Given the description of an element on the screen output the (x, y) to click on. 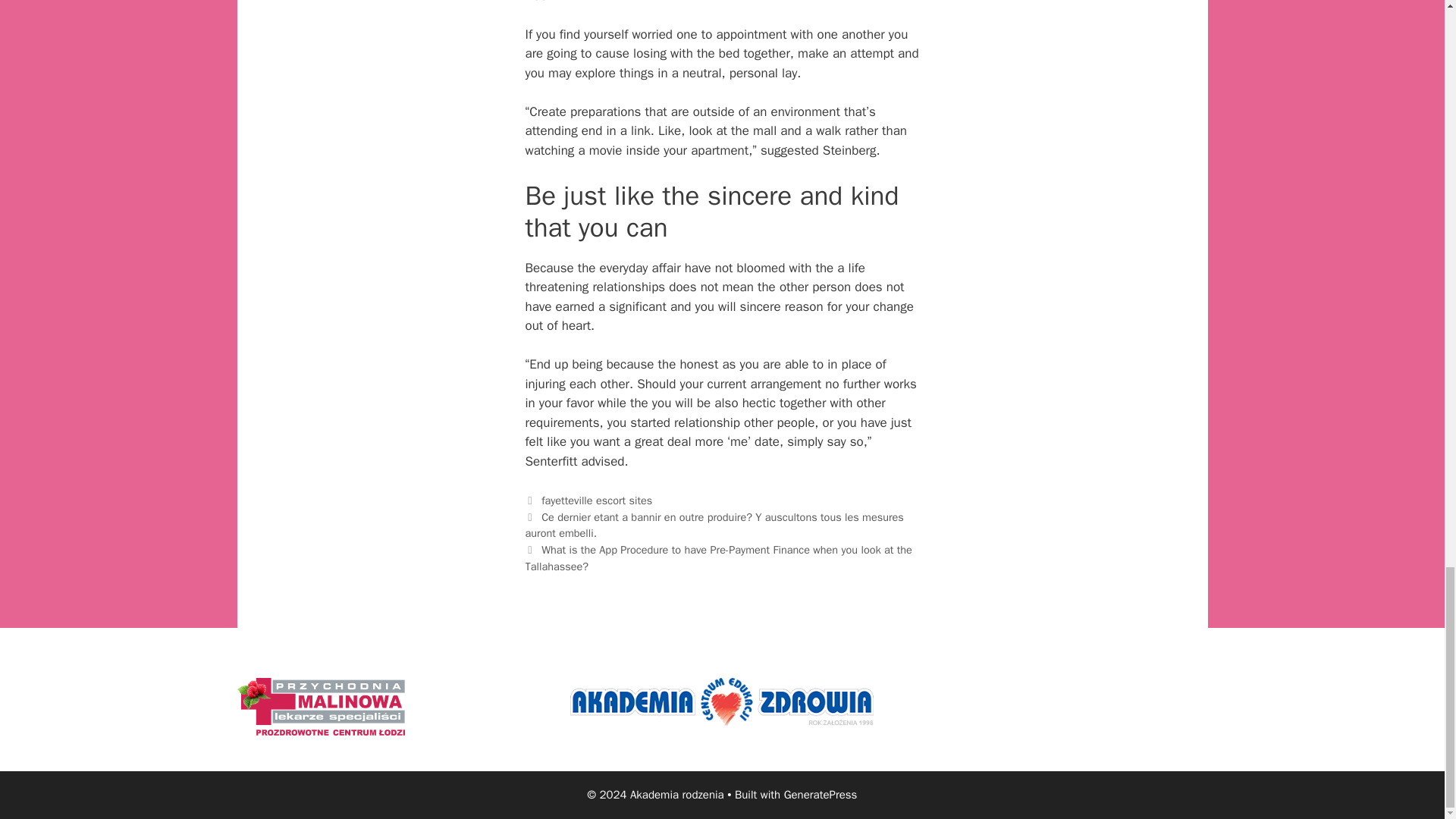
fayetteville escort sites (596, 499)
GeneratePress (820, 794)
